Given the description of an element on the screen output the (x, y) to click on. 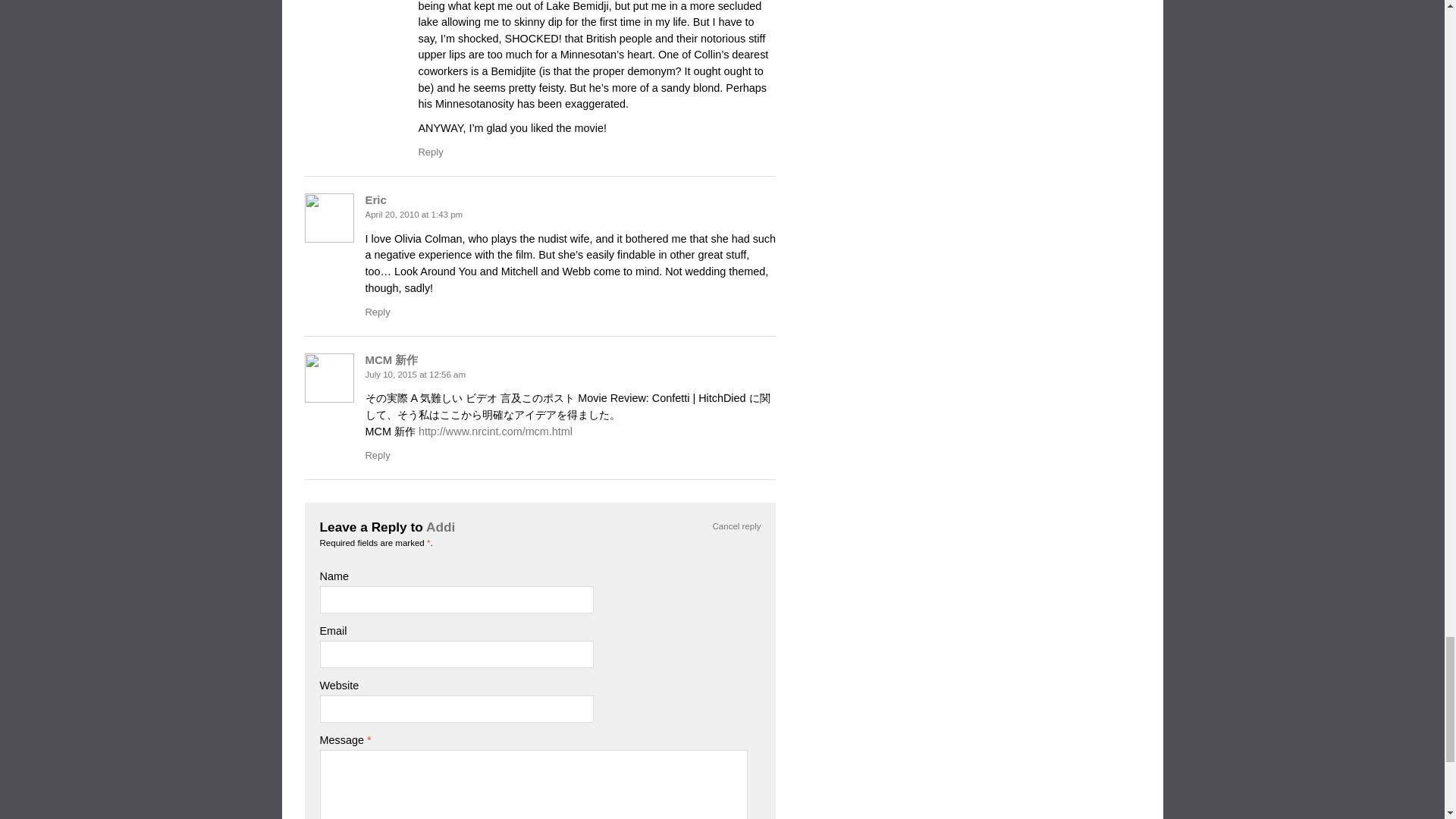
Reply (377, 311)
Eric (376, 199)
Reply (431, 152)
April 20, 2010 at 1:43 pm (414, 214)
